Given the description of an element on the screen output the (x, y) to click on. 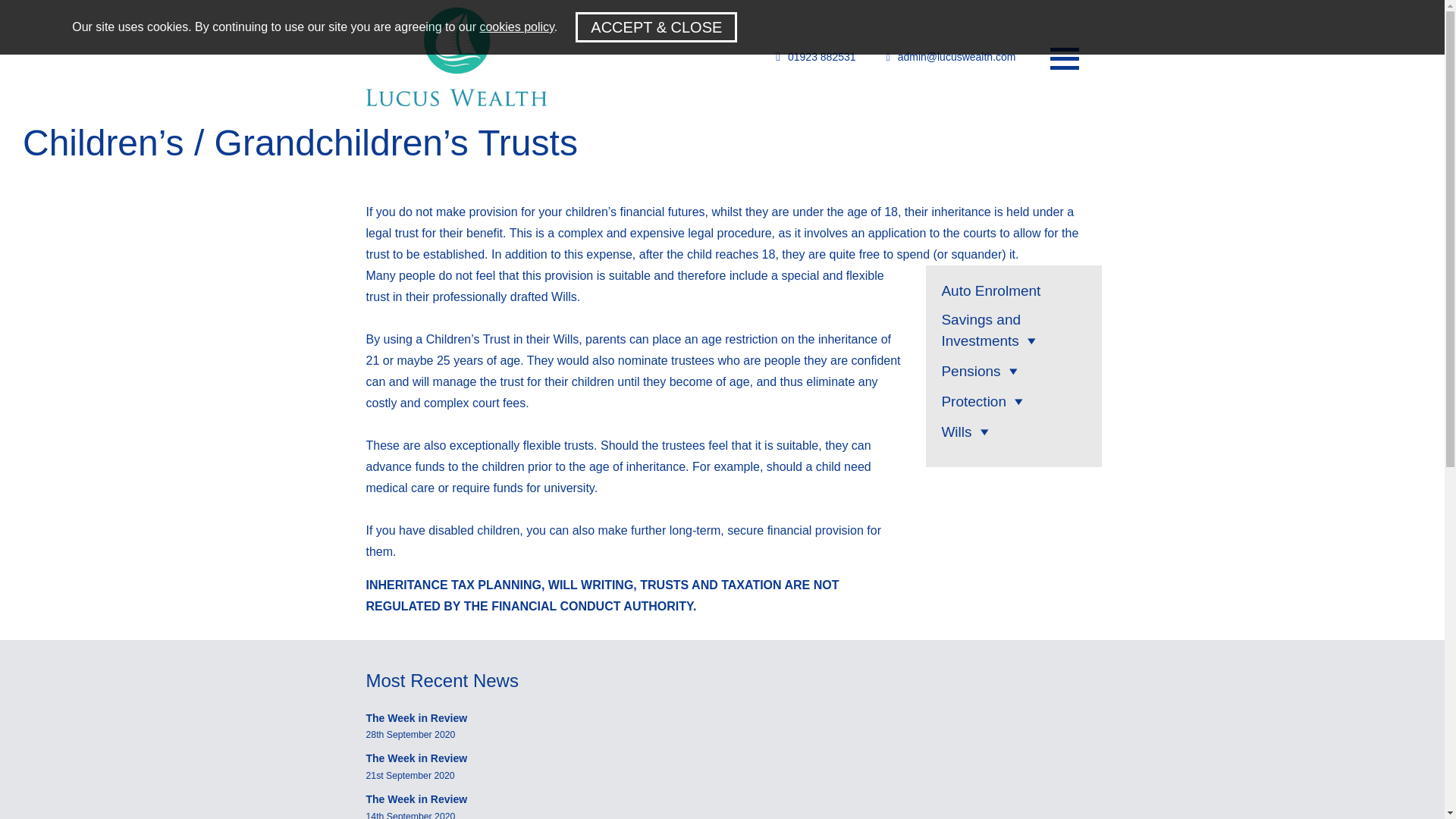
Pensions (970, 371)
Savings and Investments (980, 330)
The Week in Review (416, 717)
Wills (955, 431)
Auto Enrolment (990, 290)
The Week in Review (416, 799)
The Week in Review (416, 758)
Menu (1063, 56)
Protection (973, 401)
01923 882531 (812, 55)
